Given the description of an element on the screen output the (x, y) to click on. 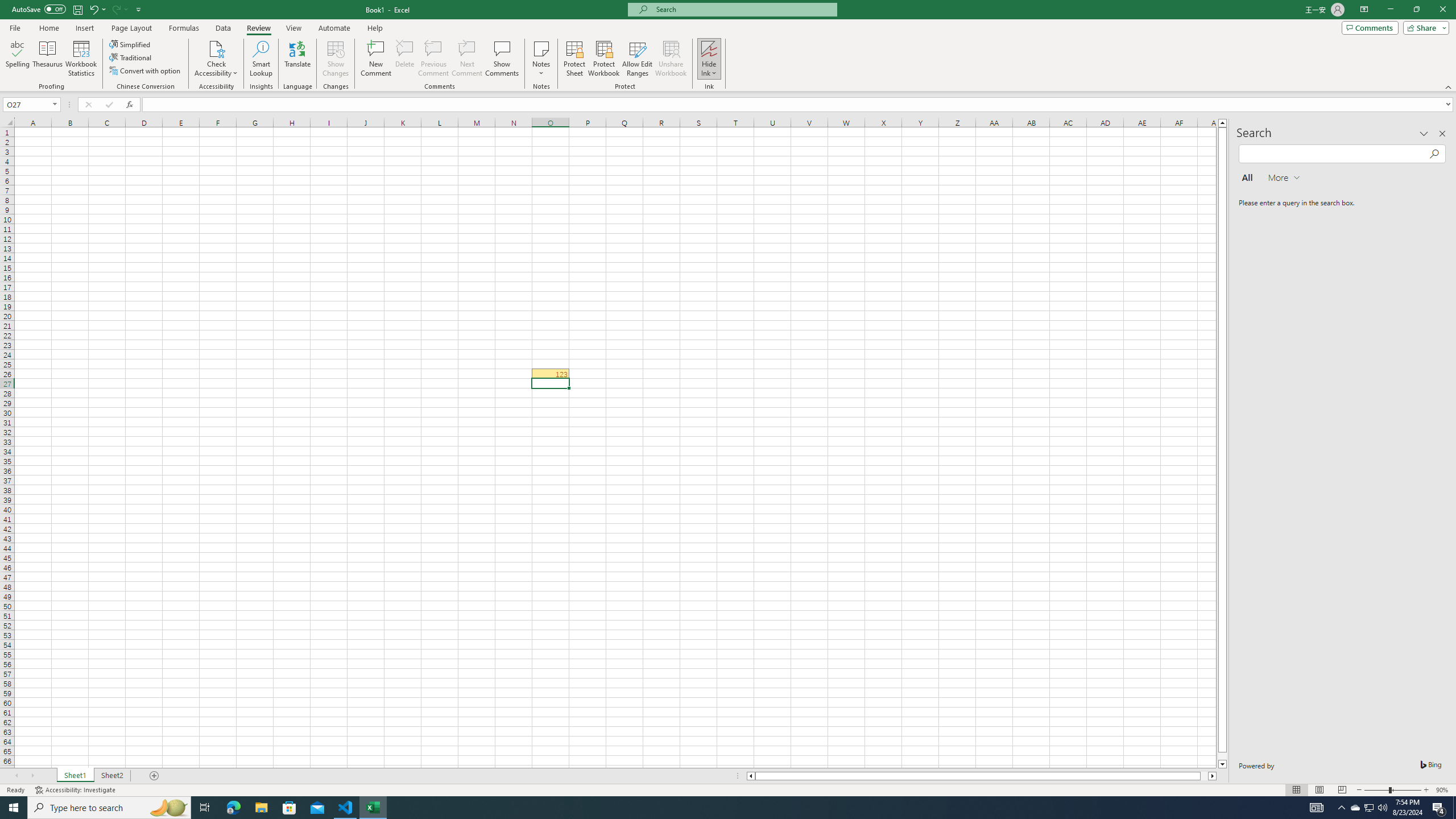
Formula Bar (799, 104)
Previous Comment (432, 58)
Allow Edit Ranges (637, 58)
Translate (297, 58)
Workbook Statistics (81, 58)
Simplified (130, 44)
